Given the description of an element on the screen output the (x, y) to click on. 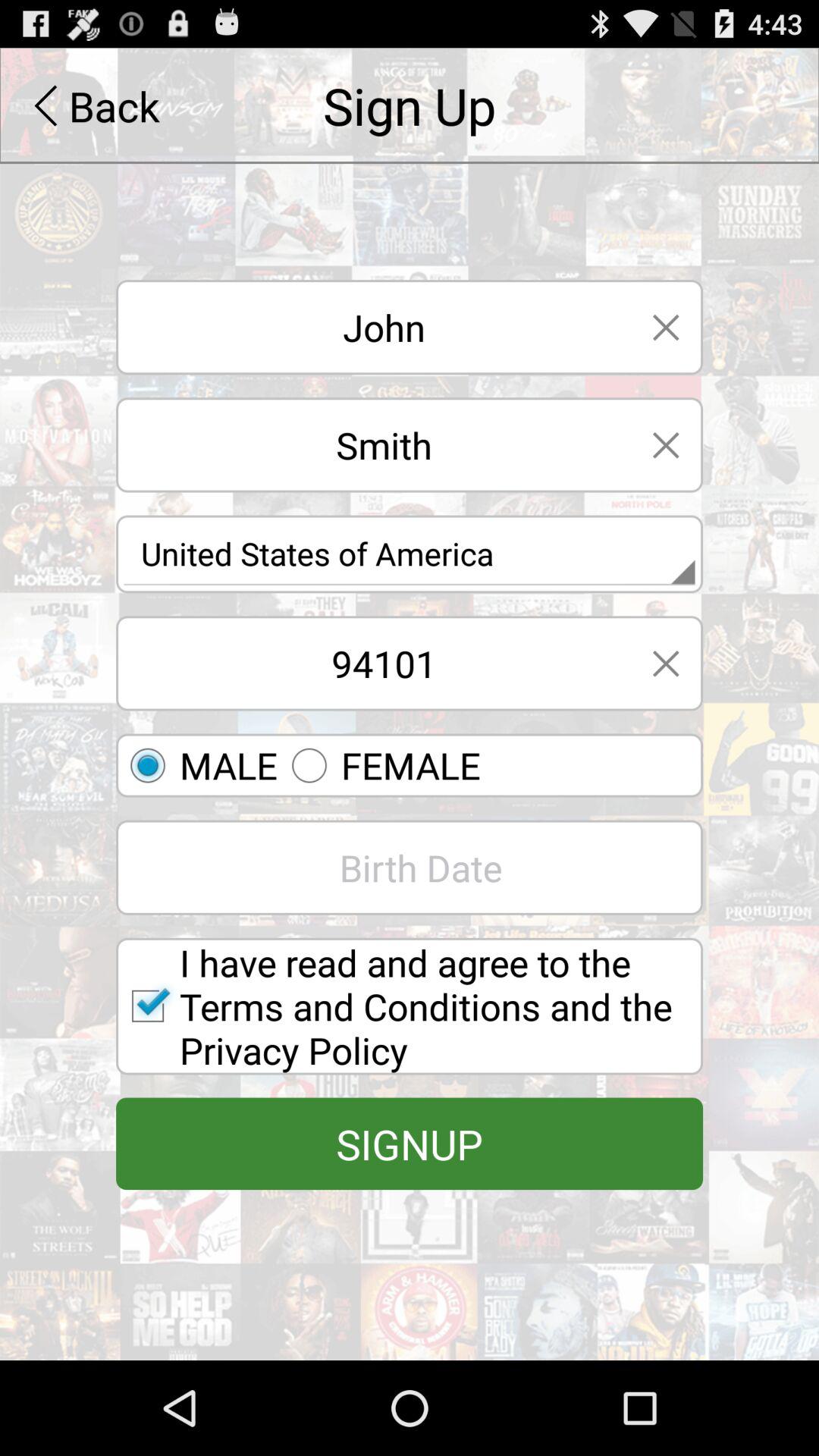
erase name (665, 327)
